Given the description of an element on the screen output the (x, y) to click on. 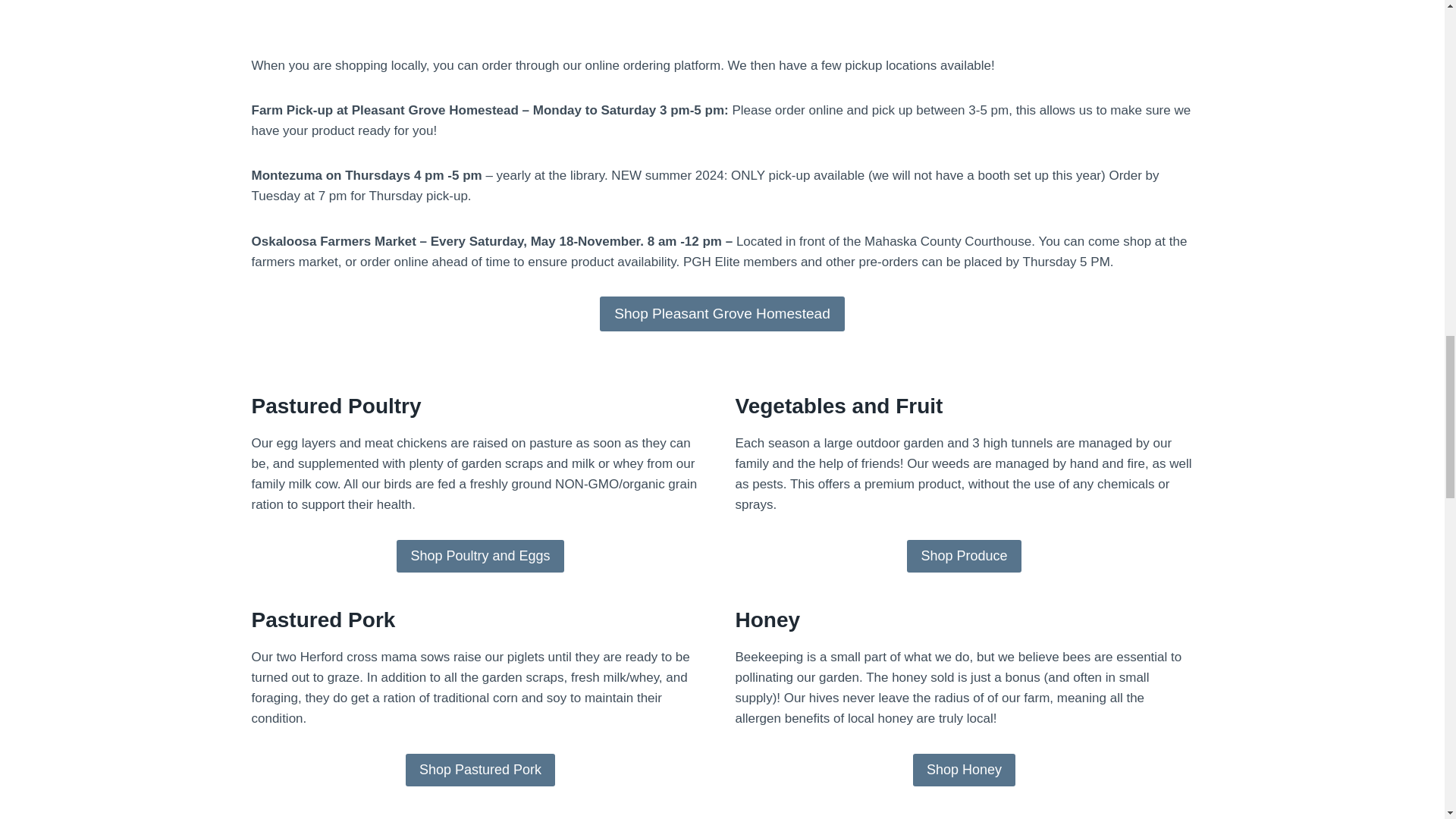
Shop Poultry and Eggs (479, 555)
Shop Produce (963, 555)
Shop Pastured Pork (480, 769)
Shop Honey (963, 769)
Shop Pleasant Grove Homestead (721, 313)
